Given the description of an element on the screen output the (x, y) to click on. 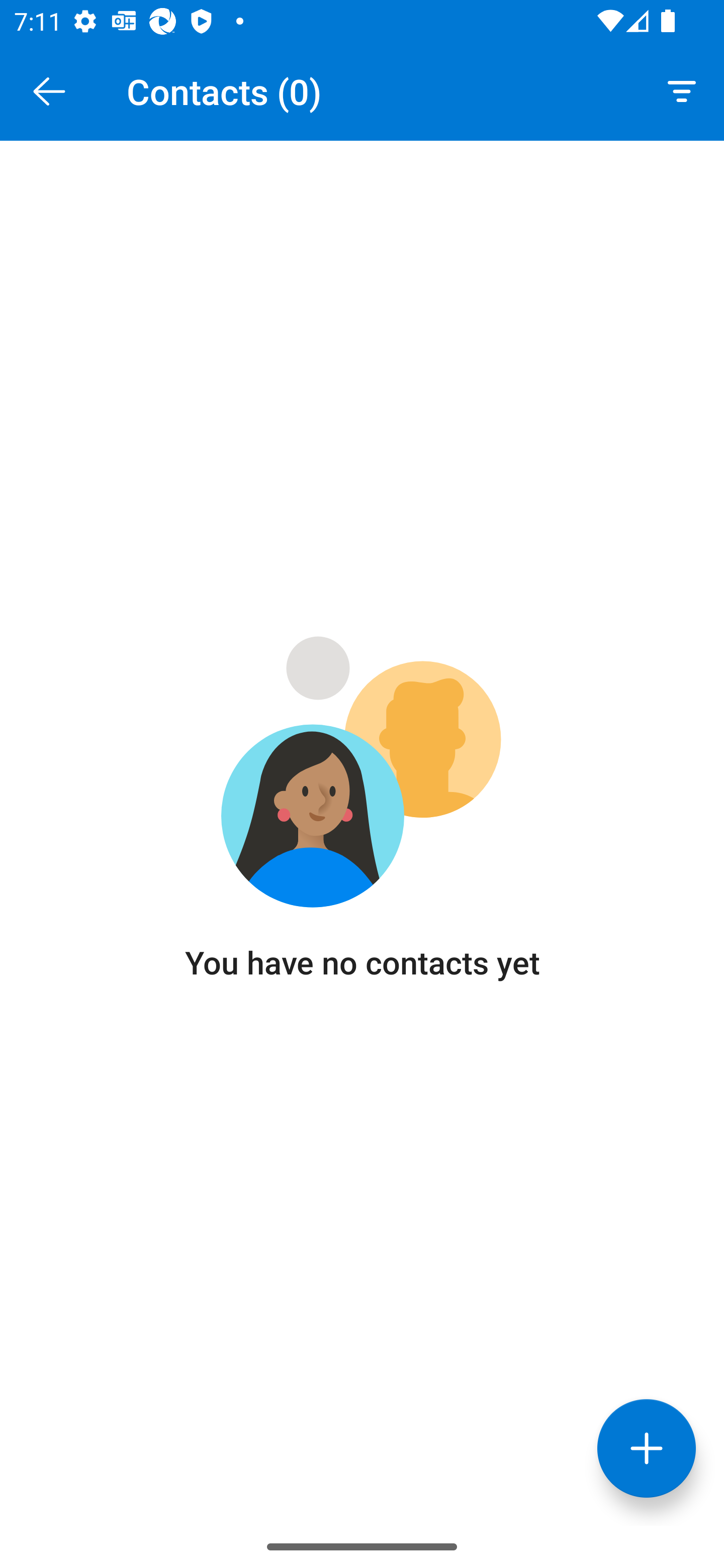
Navigate up (49, 91)
Filter (681, 90)
Add new contact (646, 1447)
